Given the description of an element on the screen output the (x, y) to click on. 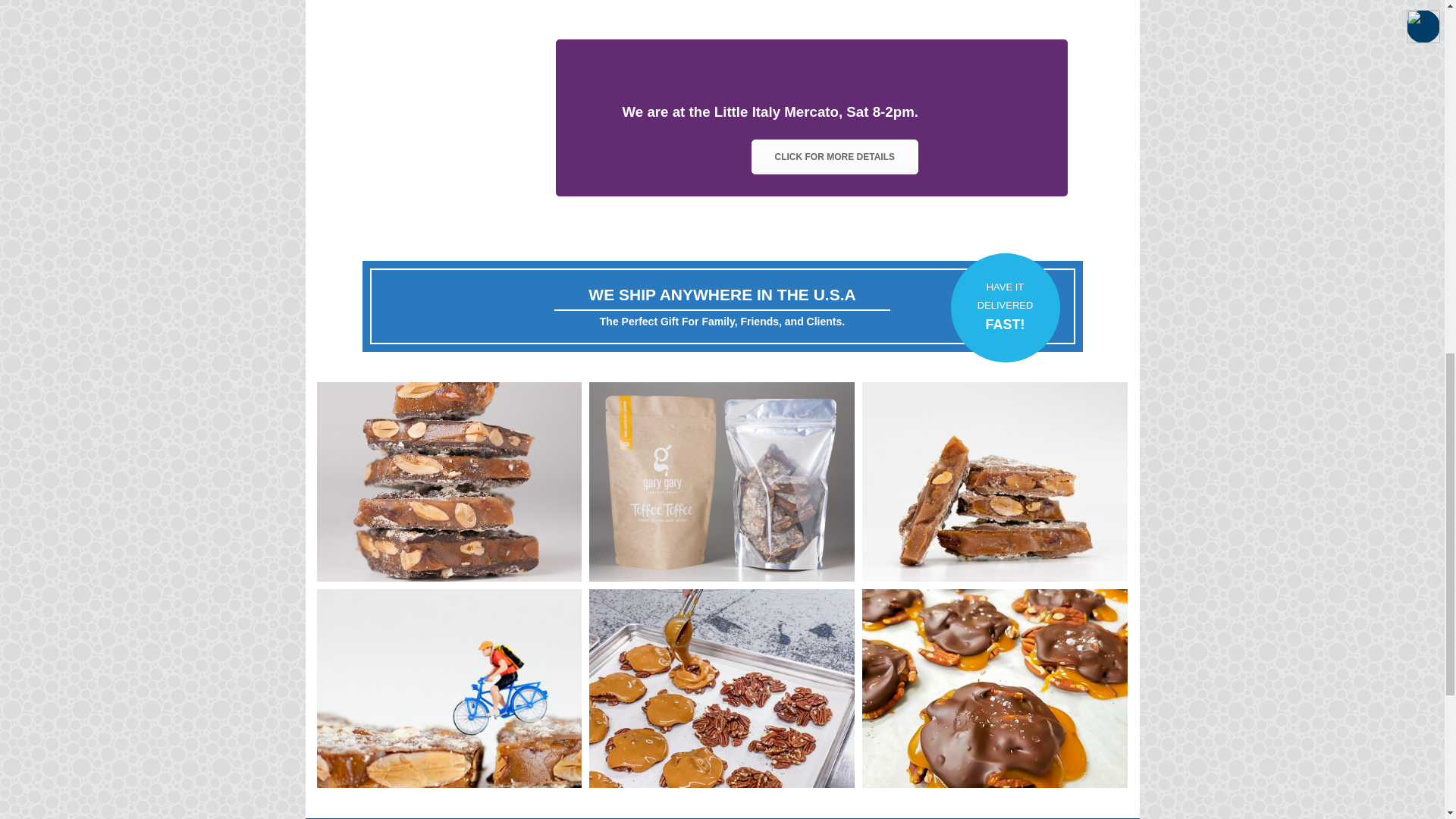
Turtle Alertle (993, 687)
Almonds. Almonds. (993, 481)
CLICK FOR MORE DETAILS (834, 156)
Stacked and Loaded (449, 481)
